Given the description of an element on the screen output the (x, y) to click on. 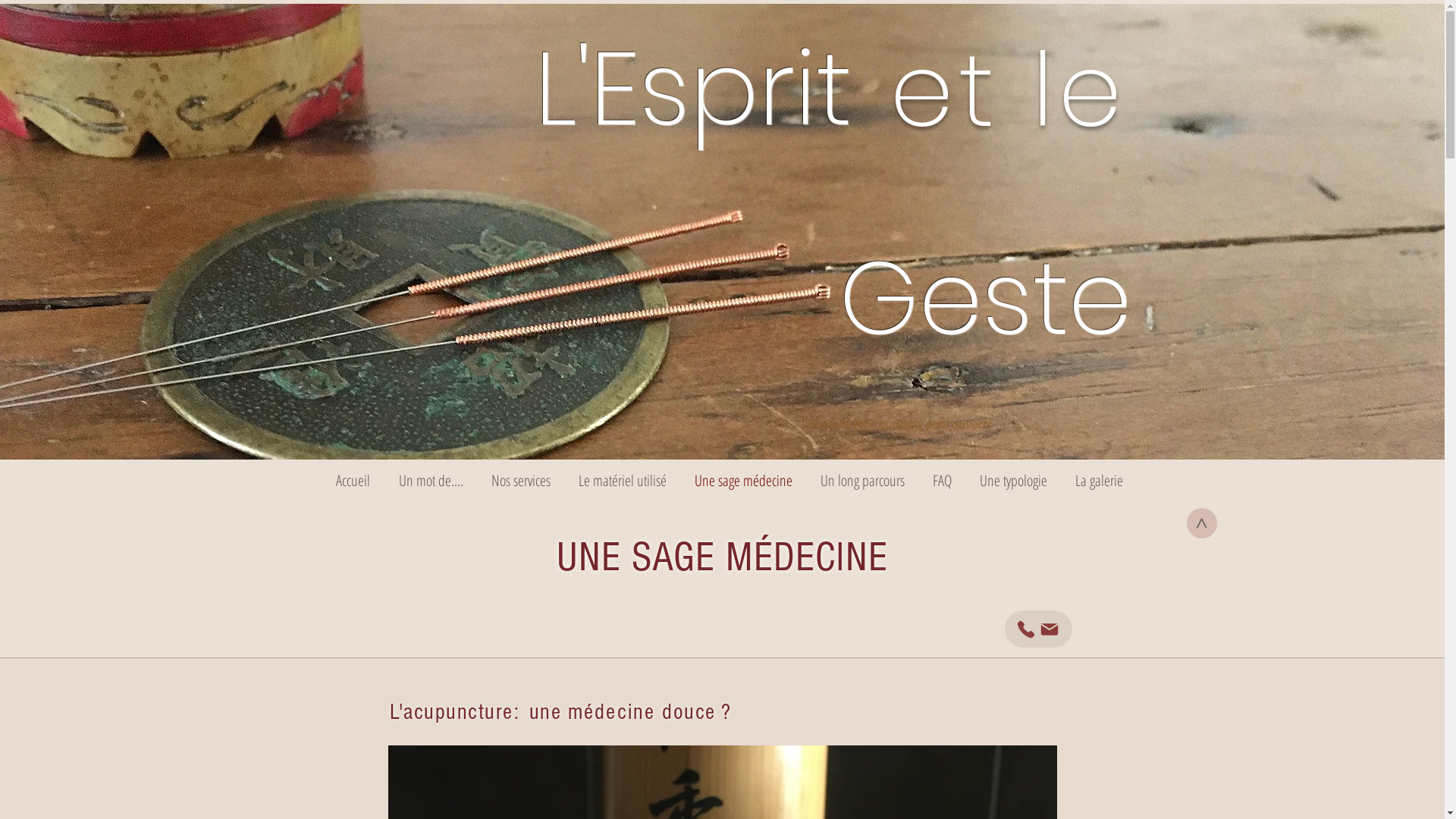
Un long parcours Element type: text (862, 480)
Une typologie Element type: text (1013, 480)
La galerie Element type: text (1099, 480)
Accueil Element type: text (352, 480)
FAQ Element type: text (942, 480)
> Element type: text (1201, 523)
Un mot de.... Element type: text (429, 480)
Nos services Element type: text (520, 480)
